Given the description of an element on the screen output the (x, y) to click on. 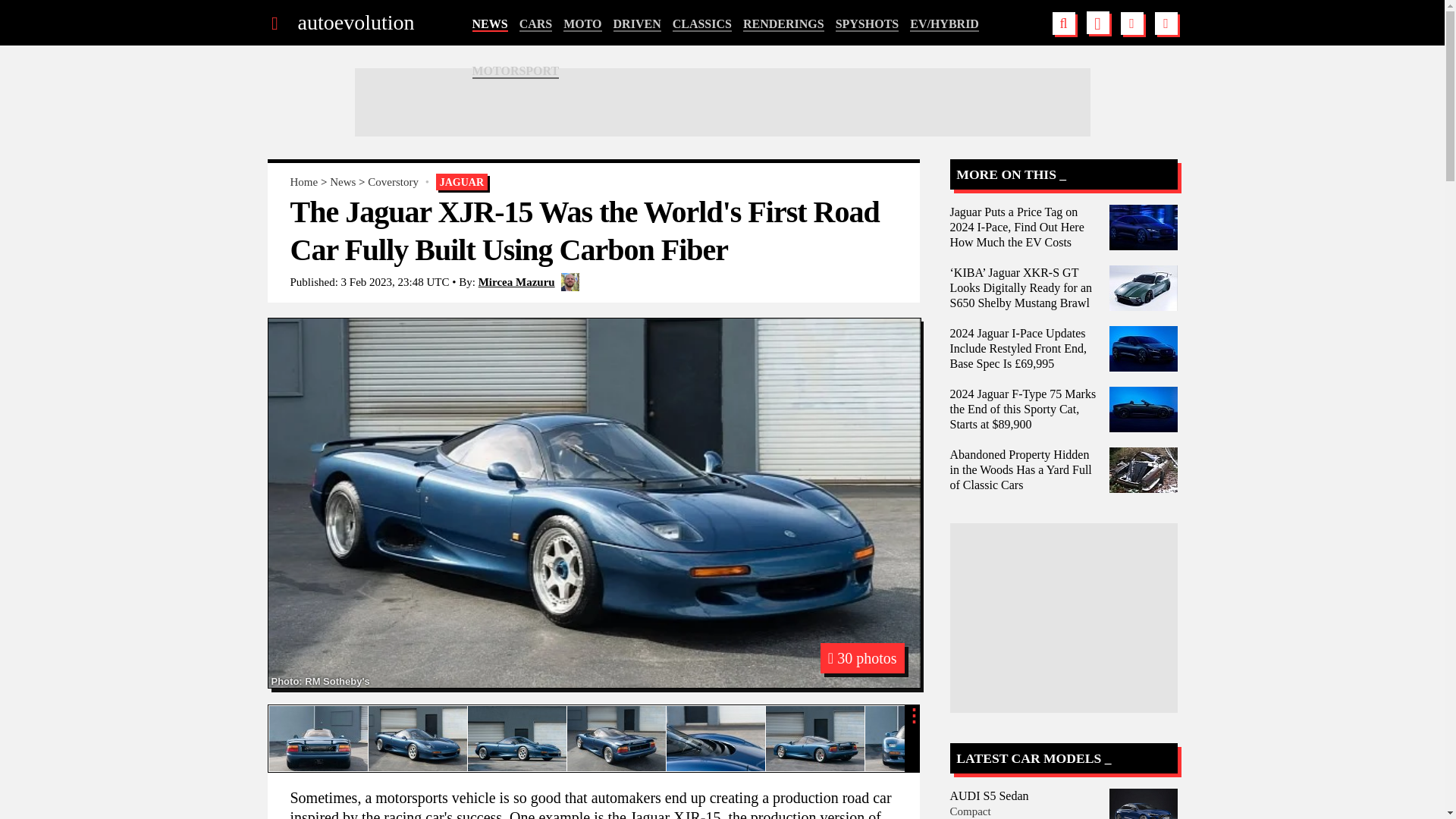
NEWS (488, 24)
autoevolution (355, 22)
RENDERINGS (783, 24)
CARS (536, 24)
DRIVEN (636, 24)
News (342, 182)
Home (303, 182)
SPYSHOTS (867, 24)
MOTO (582, 24)
autoevolution (355, 22)
